Given the description of an element on the screen output the (x, y) to click on. 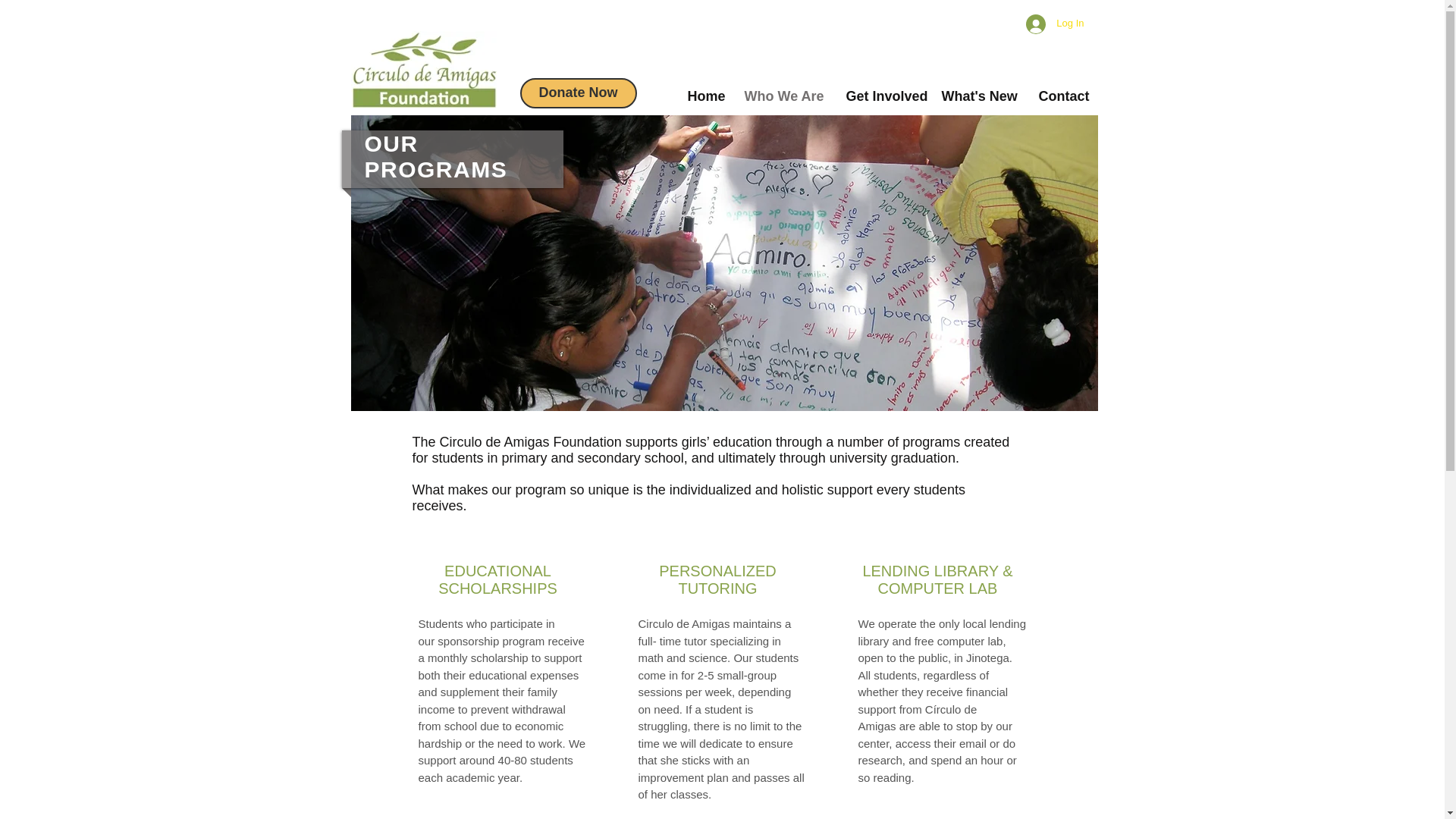
Contact (1060, 92)
Home (705, 92)
Log In (1054, 23)
What's New (978, 92)
Who We Are (783, 92)
Donate Now (578, 92)
Get Involved (882, 92)
